Given the description of an element on the screen output the (x, y) to click on. 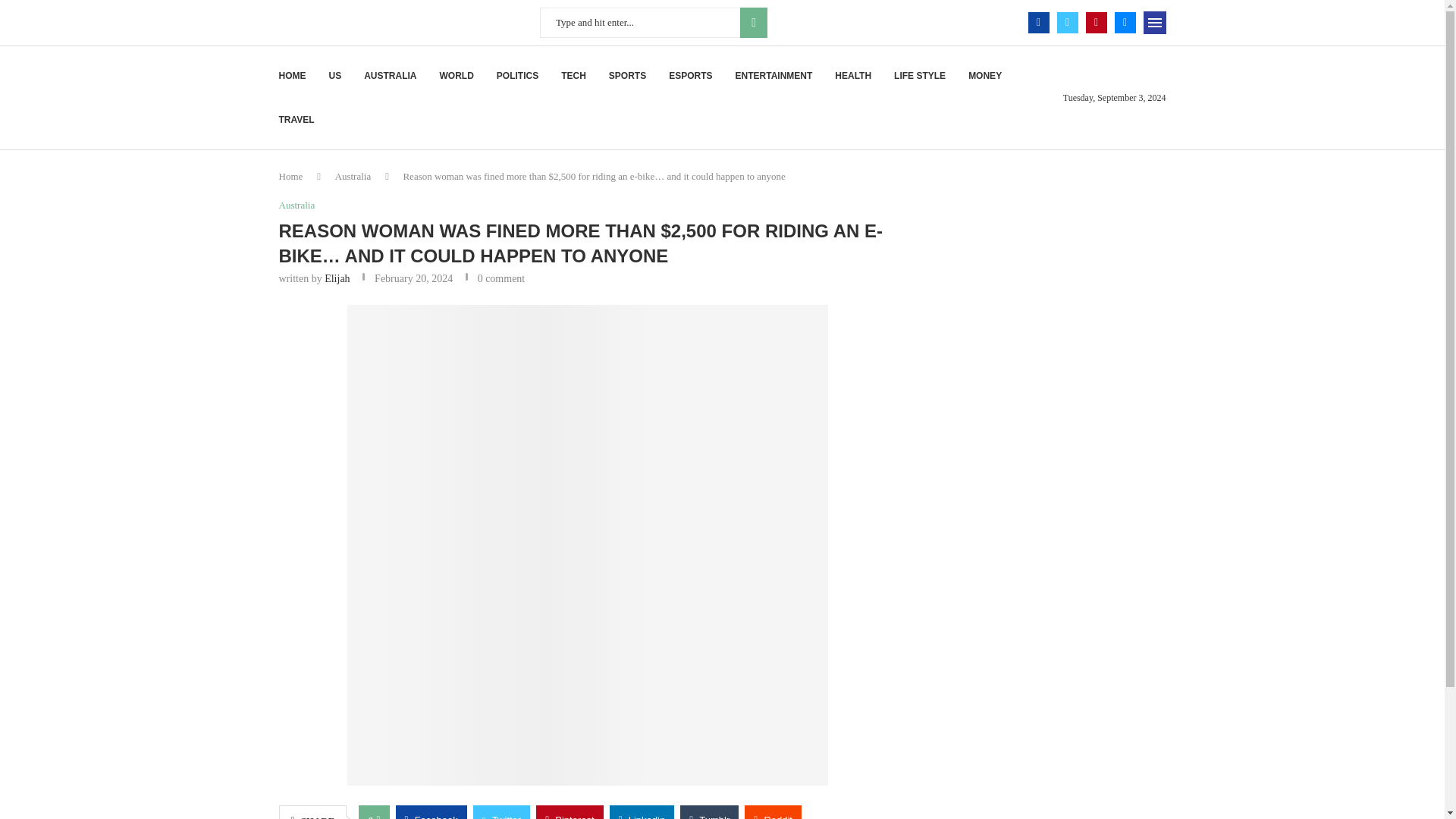
ESPORTS (689, 75)
LIFE STYLE (918, 75)
SEARCH (753, 22)
POLITICS (517, 75)
ENTERTAINMENT (773, 75)
AUSTRALIA (390, 75)
